Given the description of an element on the screen output the (x, y) to click on. 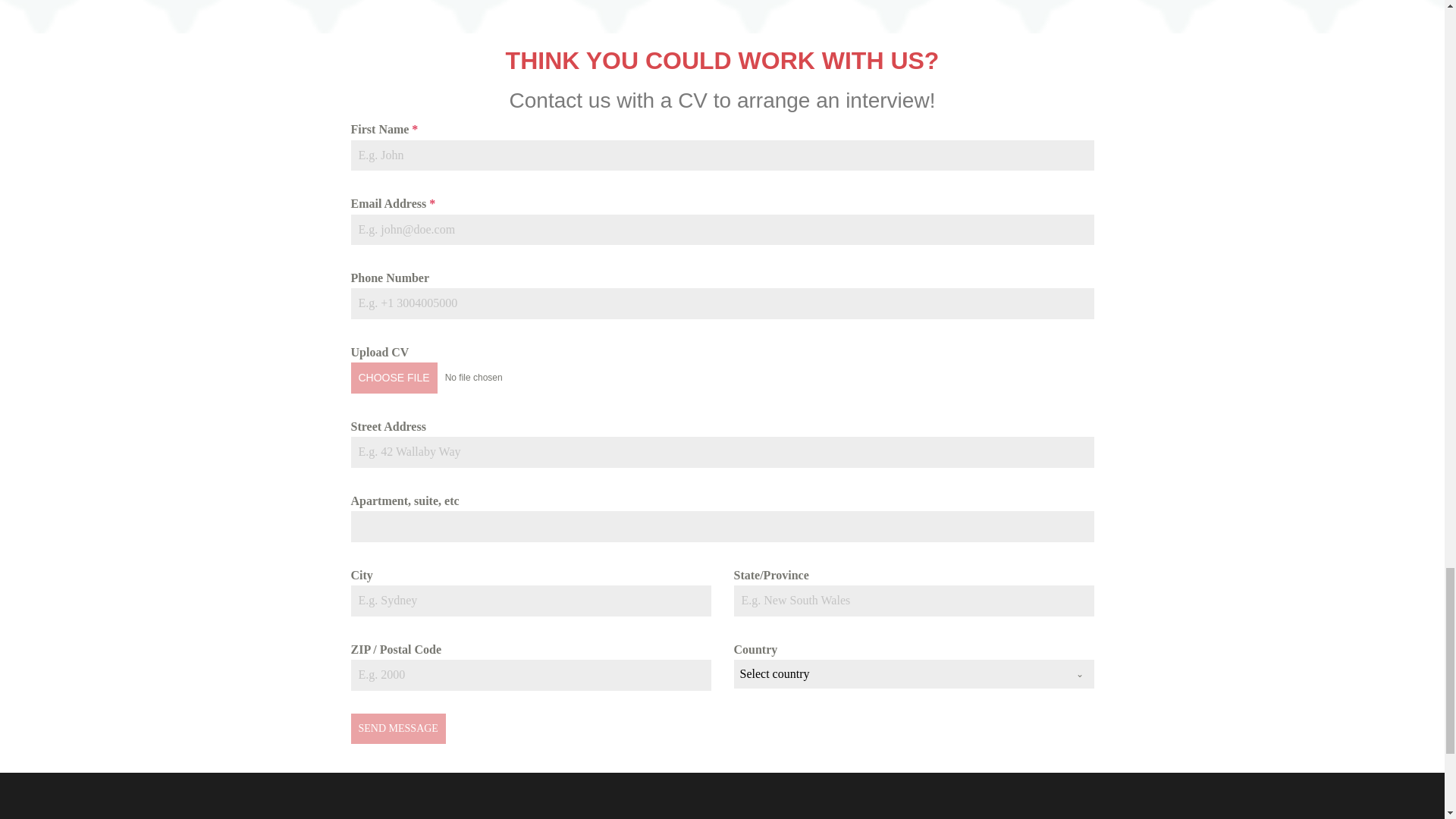
Select country (899, 674)
CHOOSE FILE (393, 377)
SEND MESSAGE (397, 728)
